Given the description of an element on the screen output the (x, y) to click on. 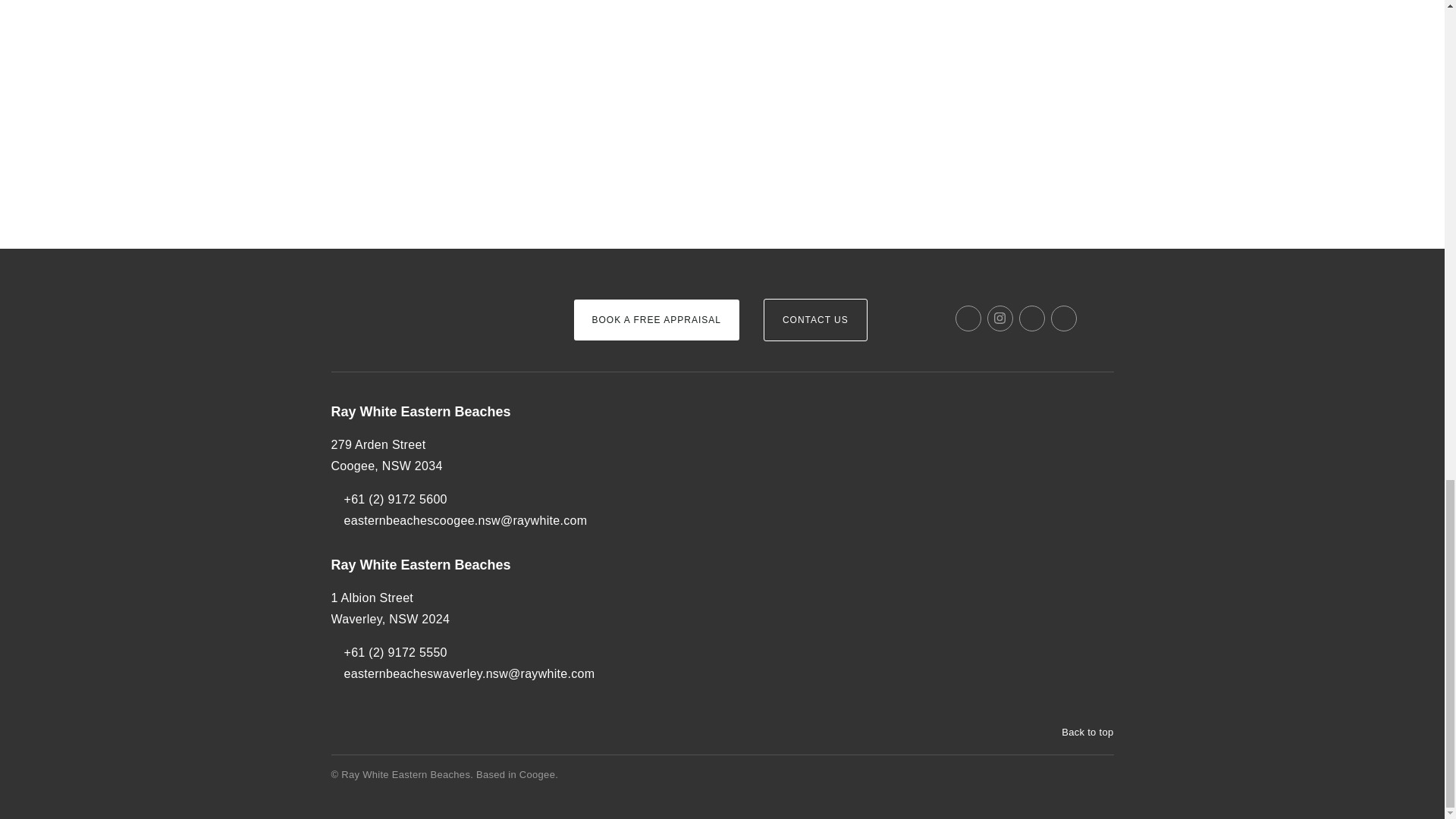
Instagram (1000, 318)
Ray White Eastern Beaches (462, 412)
BOOK A FREE APPRAISAL (655, 319)
LinkedIn (1032, 318)
Youtube (1064, 318)
CONTACT US (814, 319)
Back to top (1079, 732)
Facebook (968, 318)
Ray White Eastern Beaches (462, 565)
Ray White (376, 293)
